Given the description of an element on the screen output the (x, y) to click on. 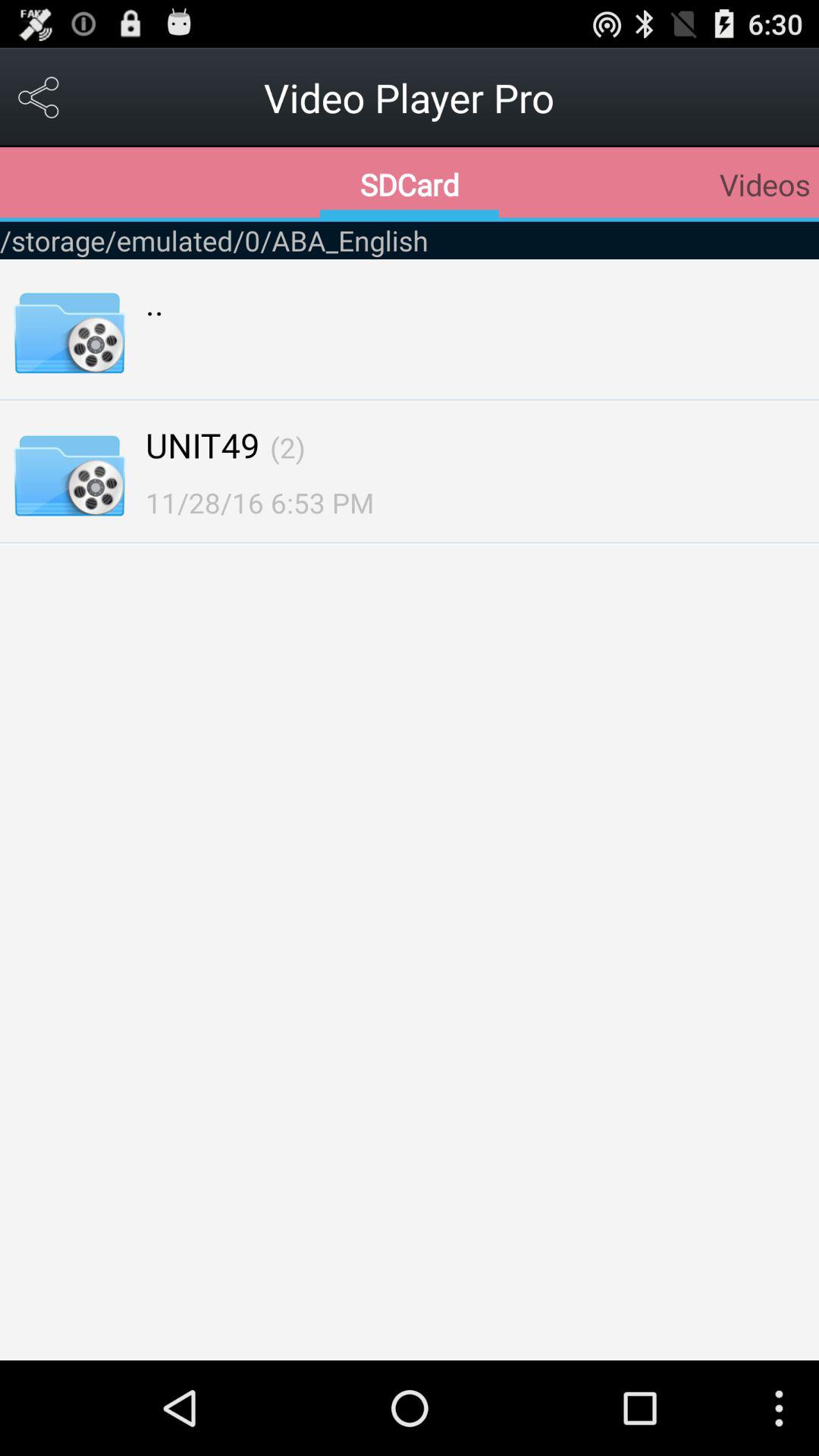
open .. (154, 302)
